Given the description of an element on the screen output the (x, y) to click on. 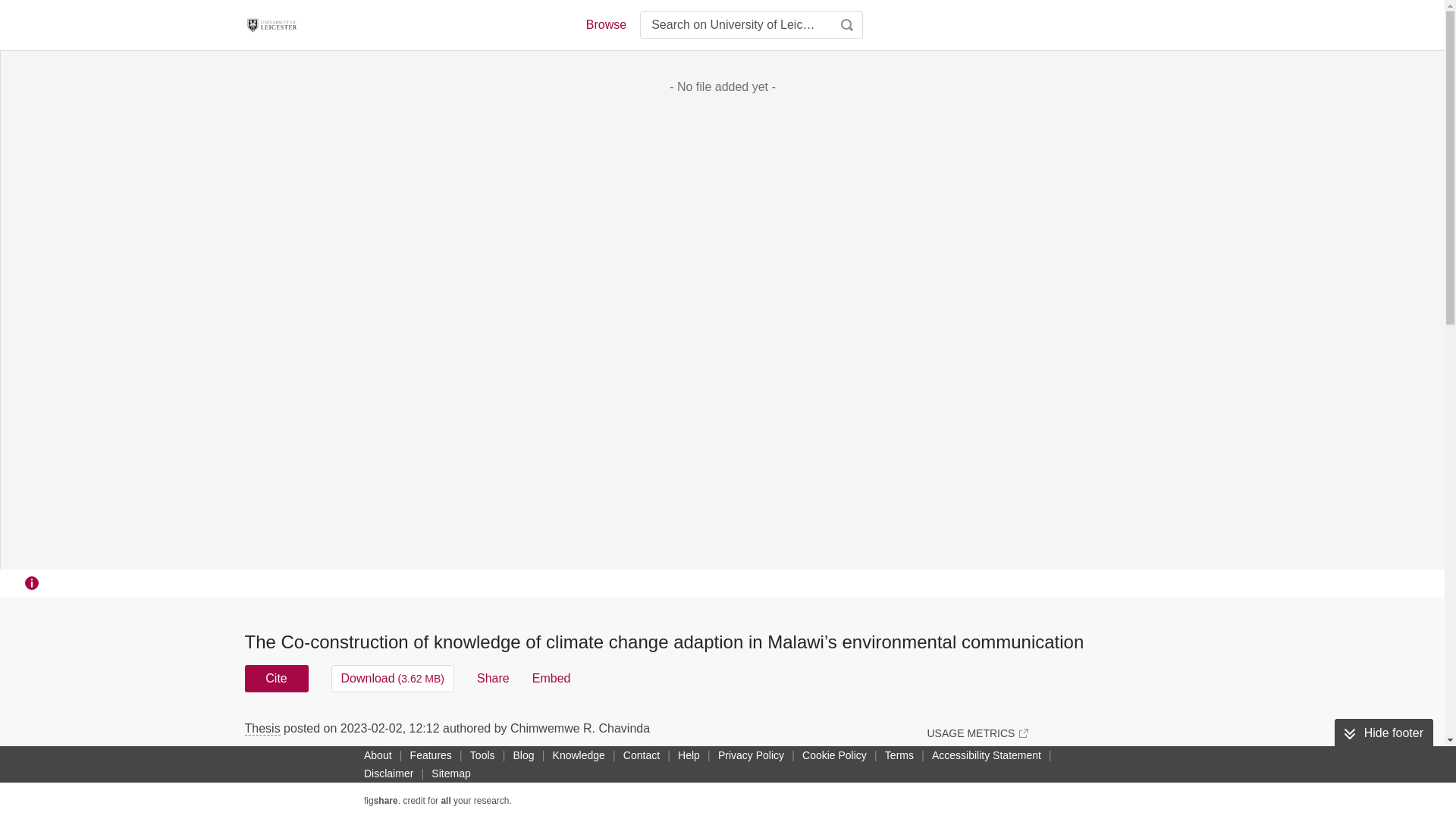
Tools (482, 755)
Hide footer (1383, 733)
Help (688, 755)
Share (493, 678)
Knowledge (579, 755)
Embed (551, 678)
Accessibility Statement (986, 755)
Features (431, 755)
Privacy Policy (751, 755)
Browse (605, 24)
